Given the description of an element on the screen output the (x, y) to click on. 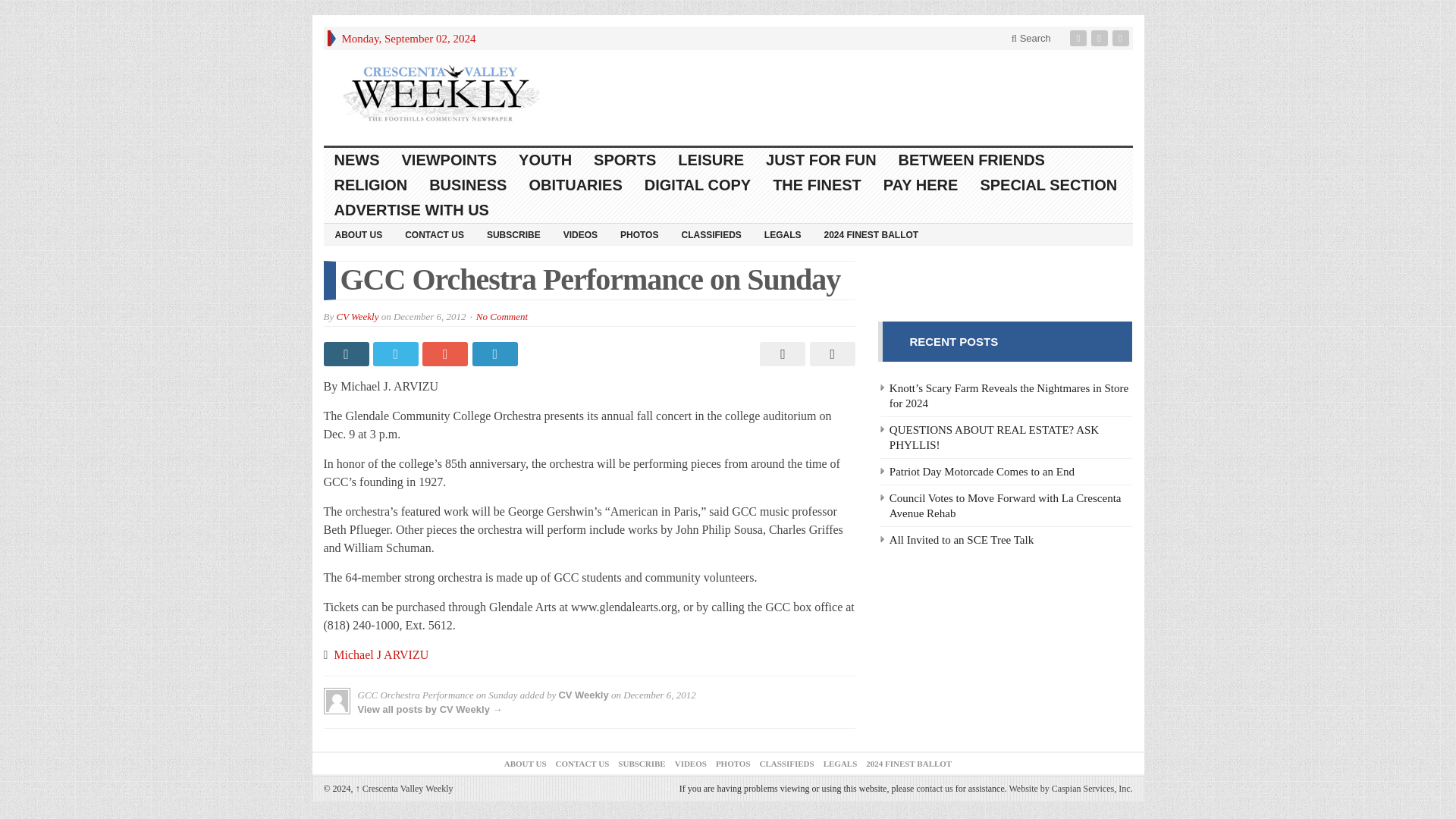
PAY HERE (920, 185)
VIEWPOINTS (449, 160)
VIDEOS (579, 233)
DIGITAL COPY (697, 185)
OBITUARIES (575, 185)
Site feed (1122, 37)
Share on LinkedIn (496, 354)
LEISURE (710, 160)
CONTACT US (434, 233)
PHOTOS (638, 233)
